Given the description of an element on the screen output the (x, y) to click on. 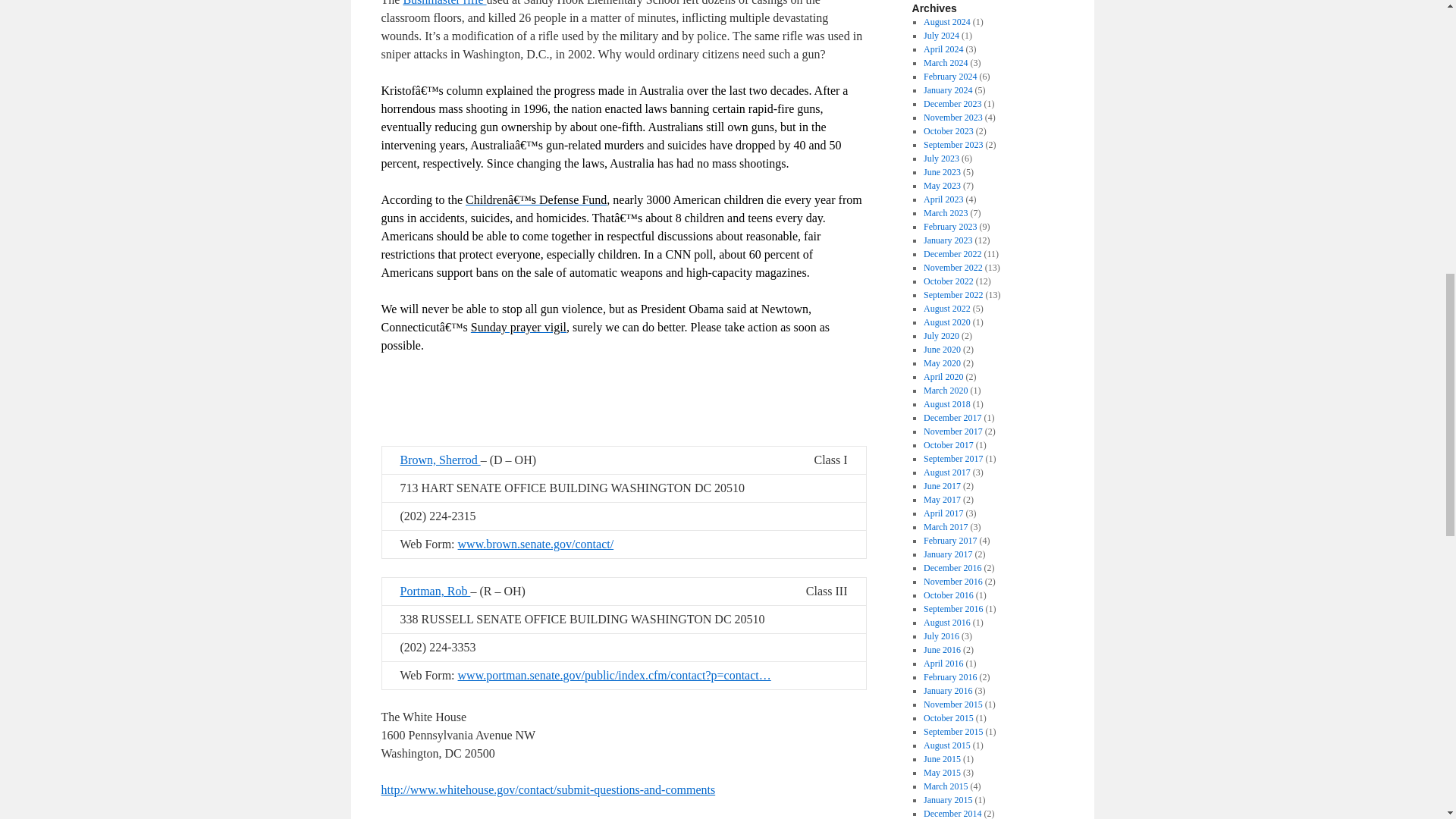
Sunday prayer vigil (518, 327)
Bushmaster rifle (444, 2)
Brown, Sherrod (440, 459)
Portman, Rob (435, 590)
